Given the description of an element on the screen output the (x, y) to click on. 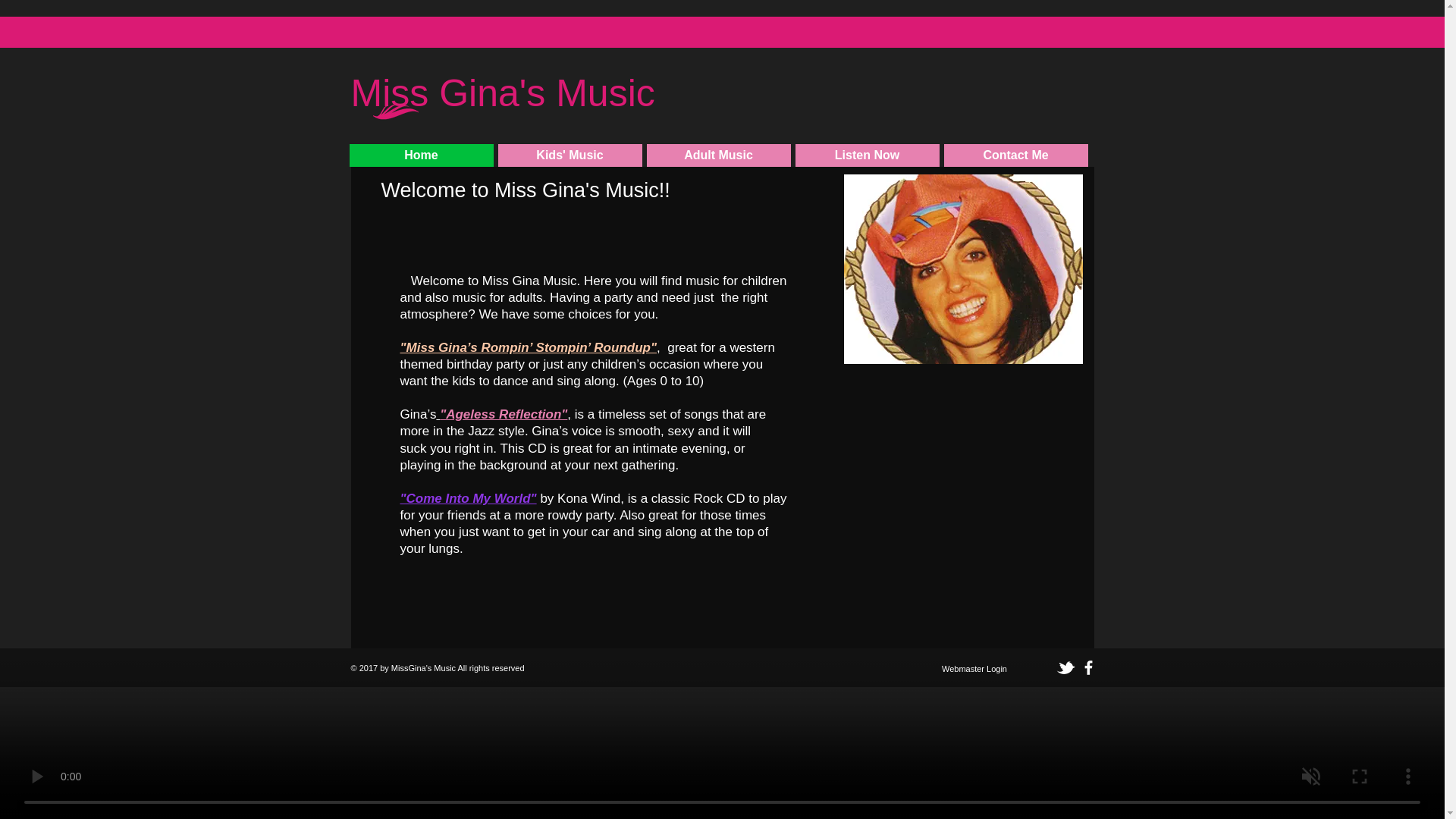
Contact Me (1015, 155)
"Come Into My World" (468, 498)
Kids' Music (569, 155)
Adult Music (718, 155)
Miss Gina's Music (501, 103)
"Ageless Reflection", (502, 414)
Home (421, 155)
Webmaster Login (974, 668)
Listen Now (866, 155)
